Given the description of an element on the screen output the (x, y) to click on. 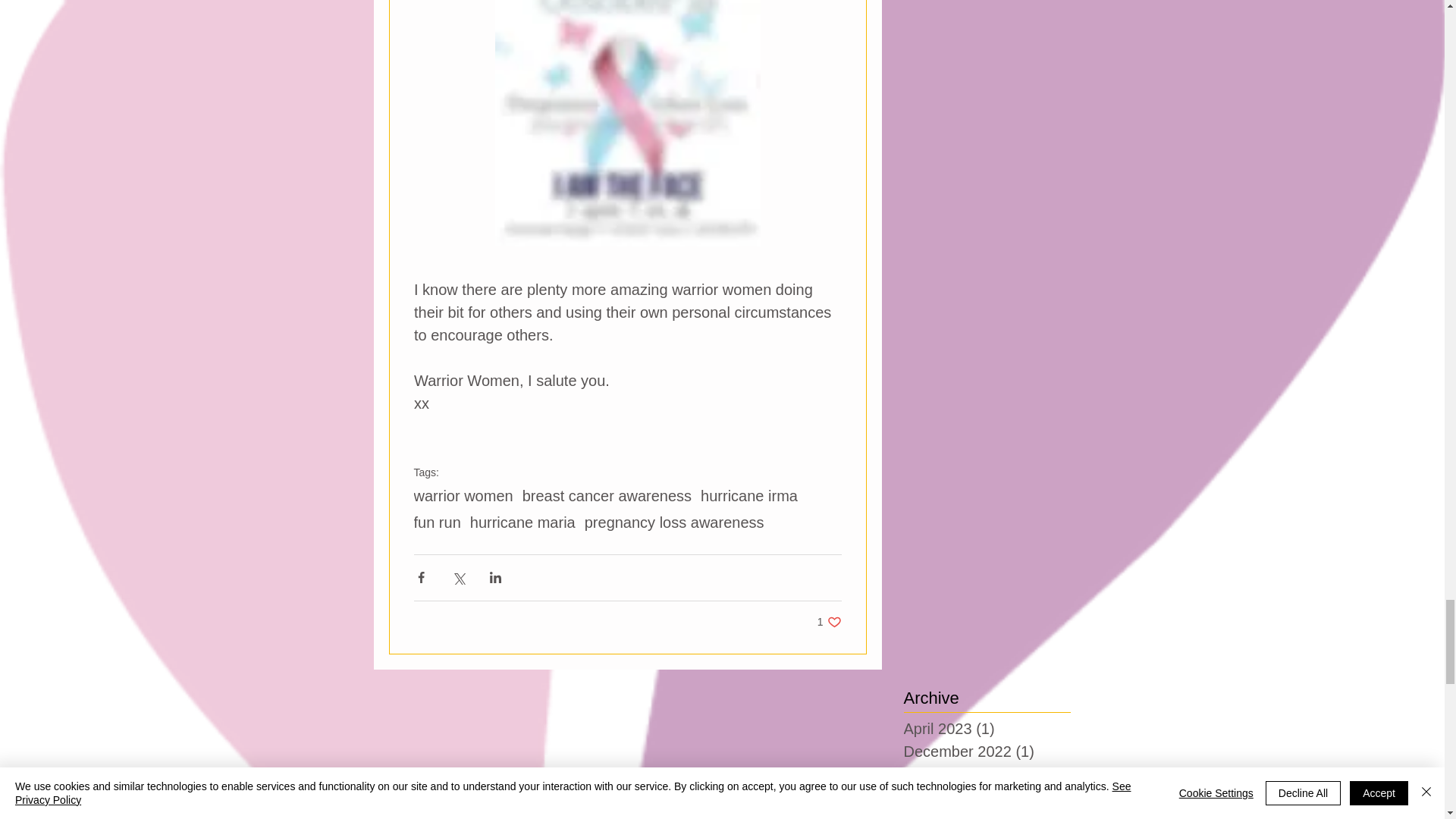
hurricane maria (522, 522)
pregnancy loss awareness (674, 522)
hurricane irma (748, 495)
fun run (437, 522)
breast cancer awareness (828, 621)
warrior women (606, 495)
